Given the description of an element on the screen output the (x, y) to click on. 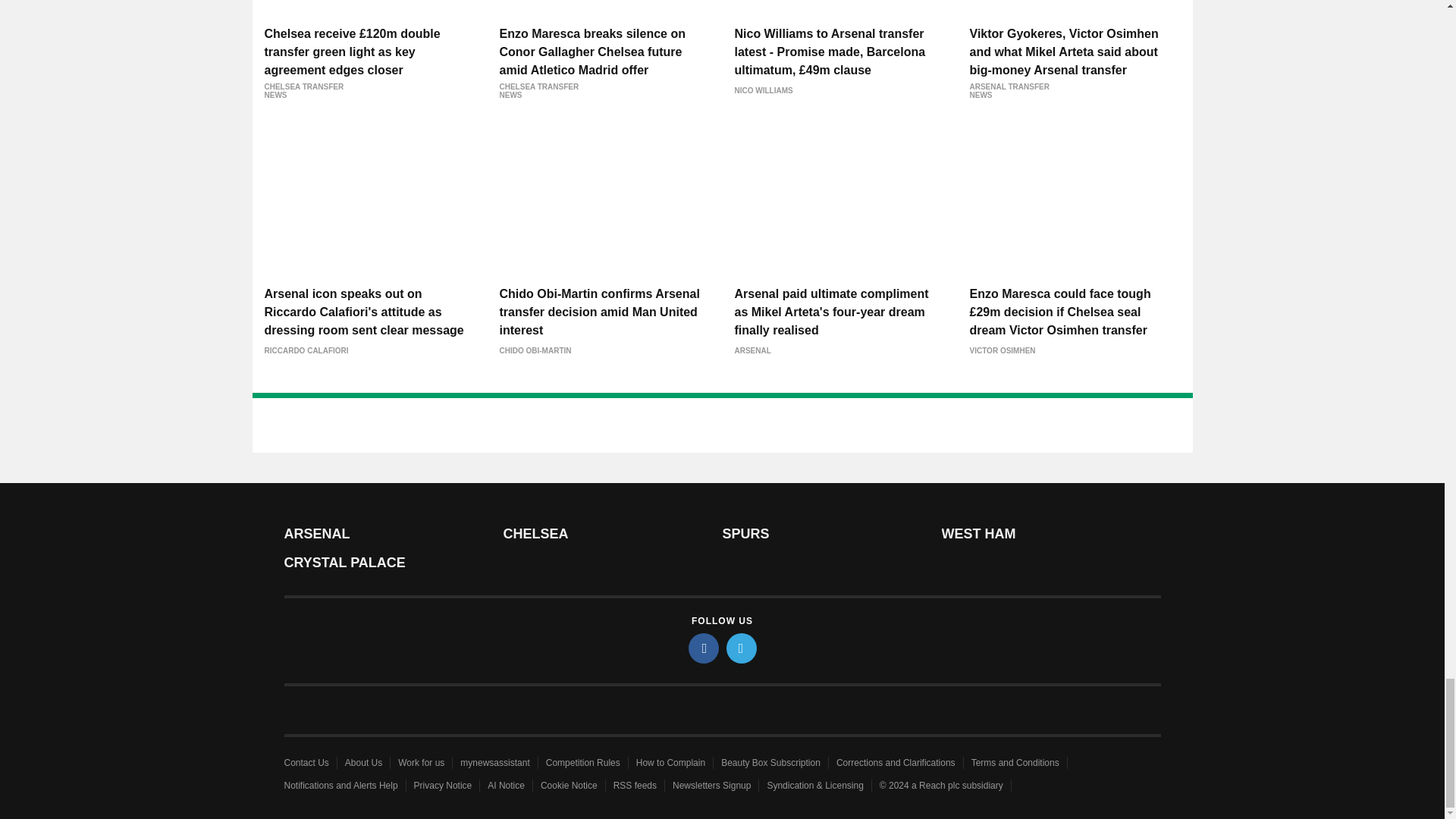
twitter (741, 648)
facebook (703, 648)
